Given the description of an element on the screen output the (x, y) to click on. 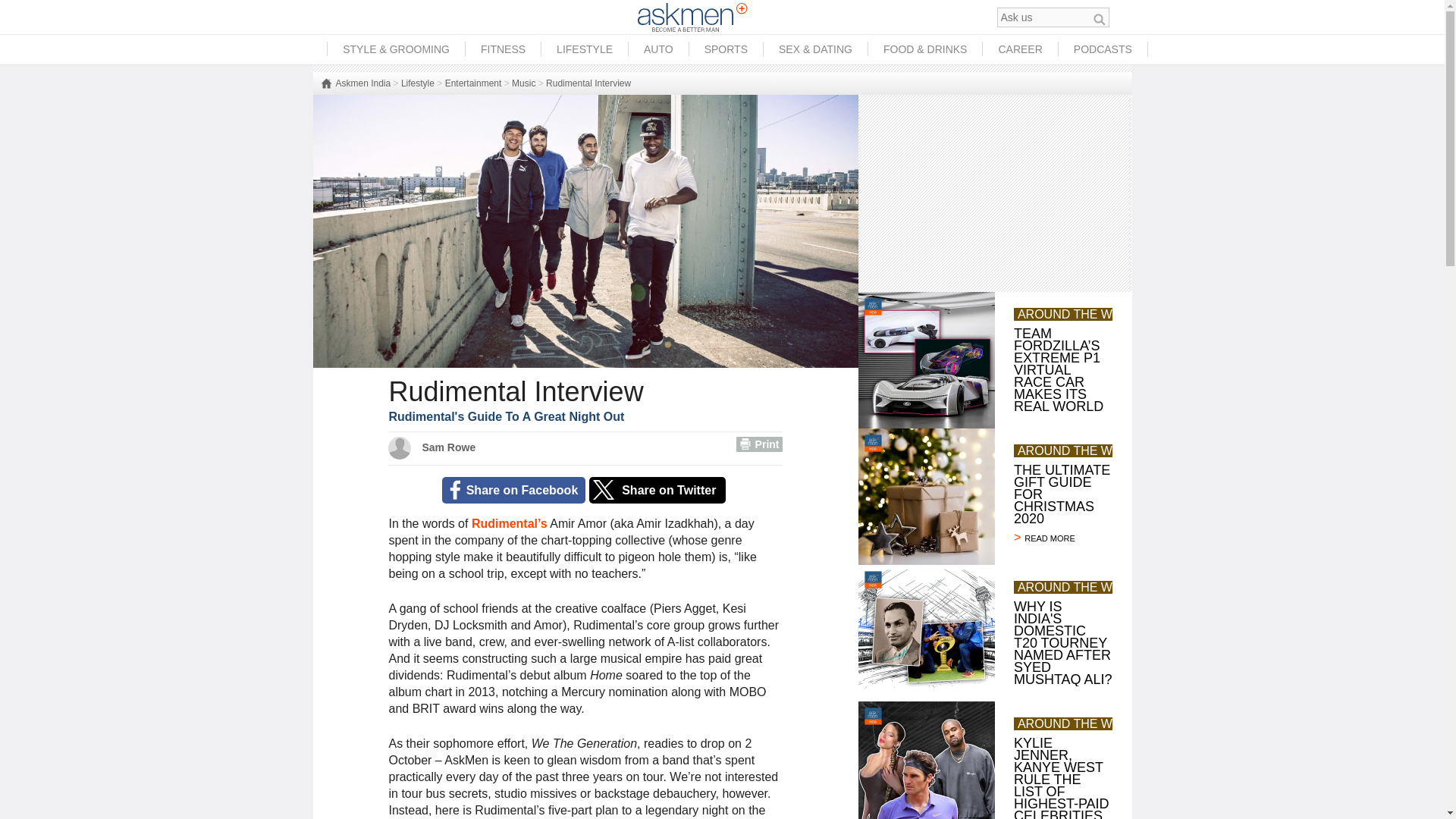
CAREER (1019, 49)
Entertainment (473, 83)
Sam Rowe (449, 447)
Askmen India (355, 83)
FITNESS (502, 49)
Music (523, 83)
AUTO (657, 49)
Askmen India (355, 83)
Lifestyle (417, 83)
